Given the description of an element on the screen output the (x, y) to click on. 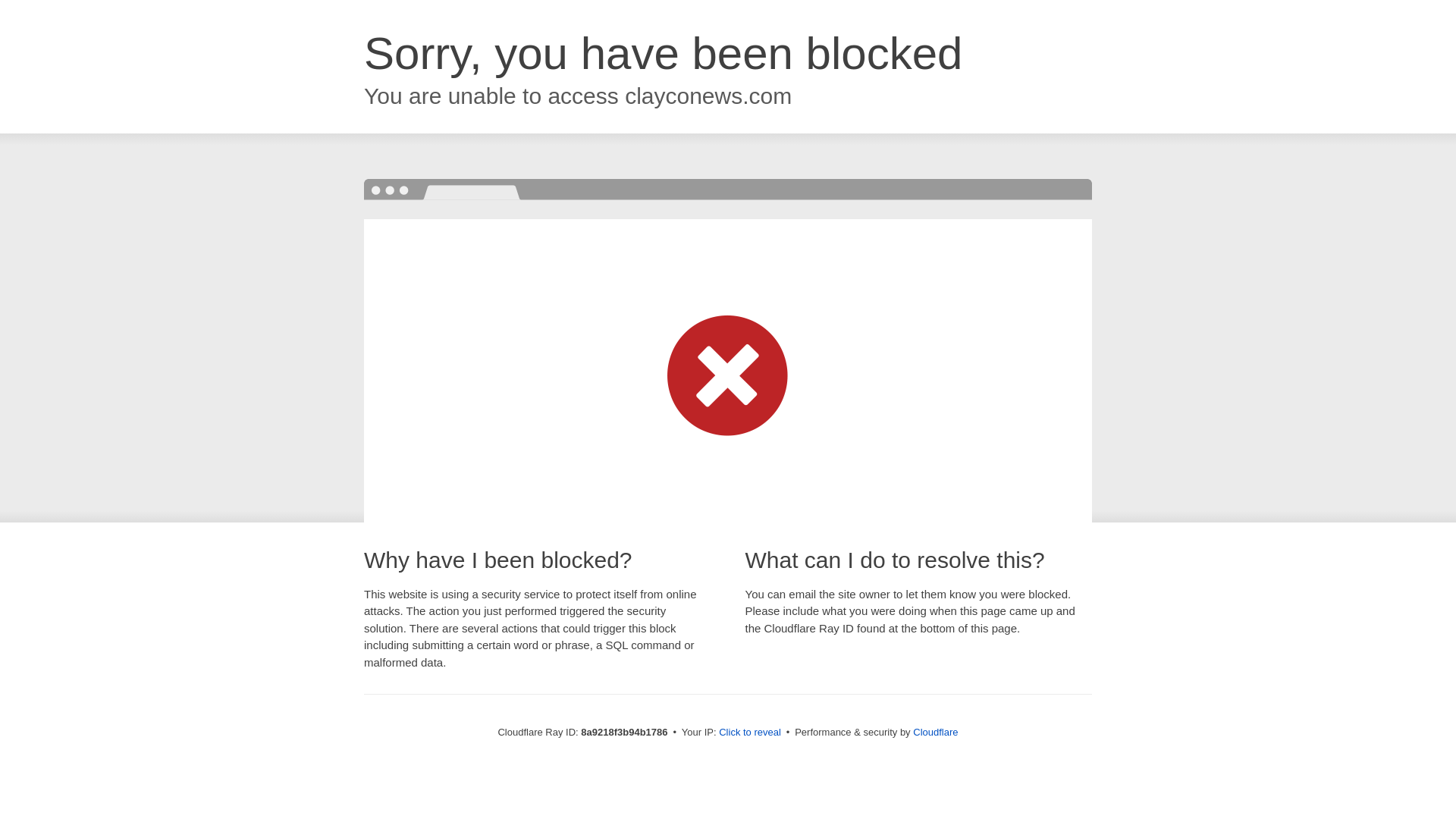
Cloudflare (935, 731)
Click to reveal (749, 732)
